Given the description of an element on the screen output the (x, y) to click on. 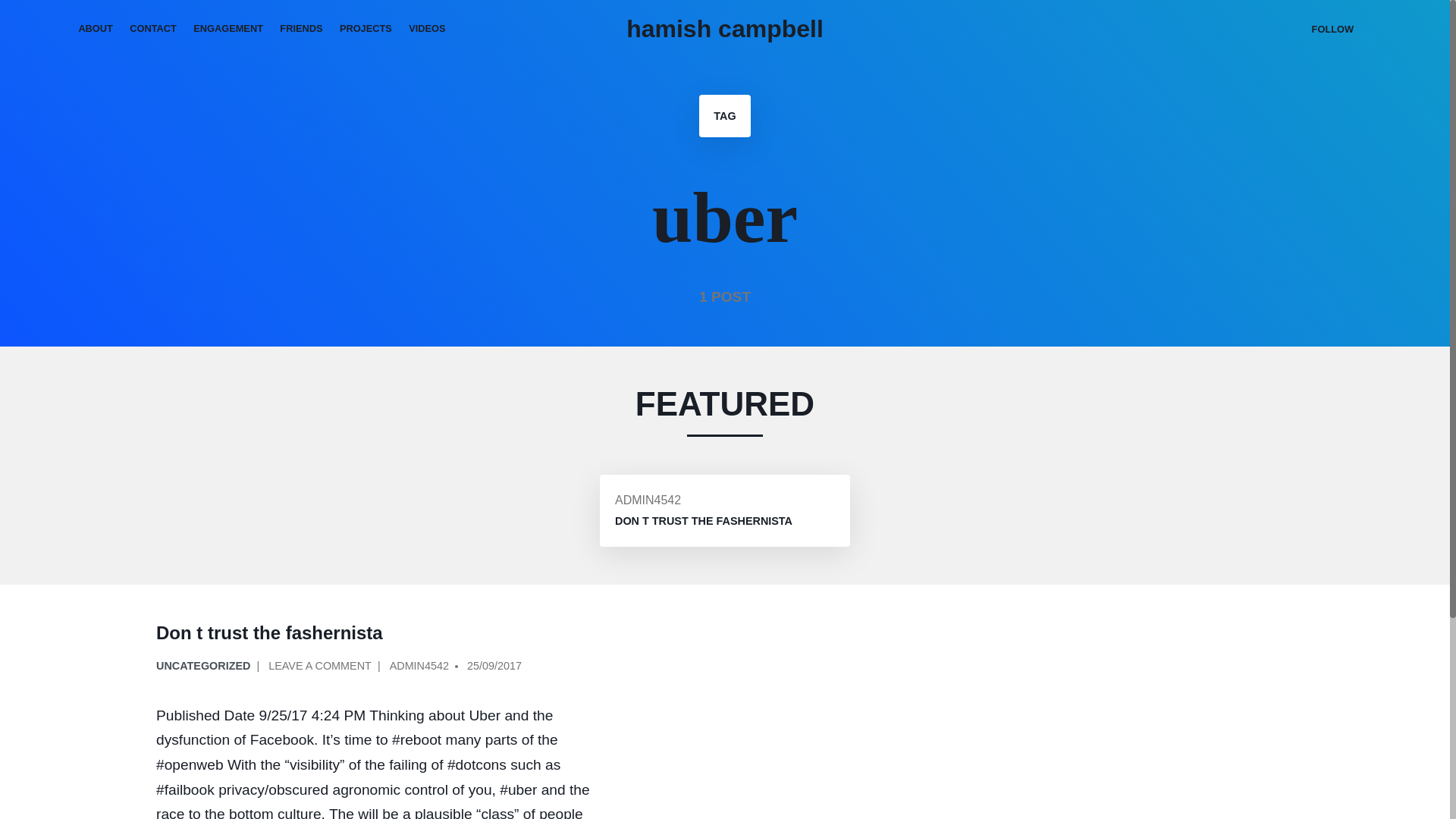
Don t trust the fashernista (703, 520)
ENGAGEMENT (227, 28)
FOLLOW (1332, 29)
FRIENDS (300, 28)
VIDEOS (427, 28)
CONTACT (152, 28)
PROJECTS (365, 28)
hamish campbell (725, 28)
ABOUT (94, 28)
Hamish Campbell (725, 28)
